Given the description of an element on the screen output the (x, y) to click on. 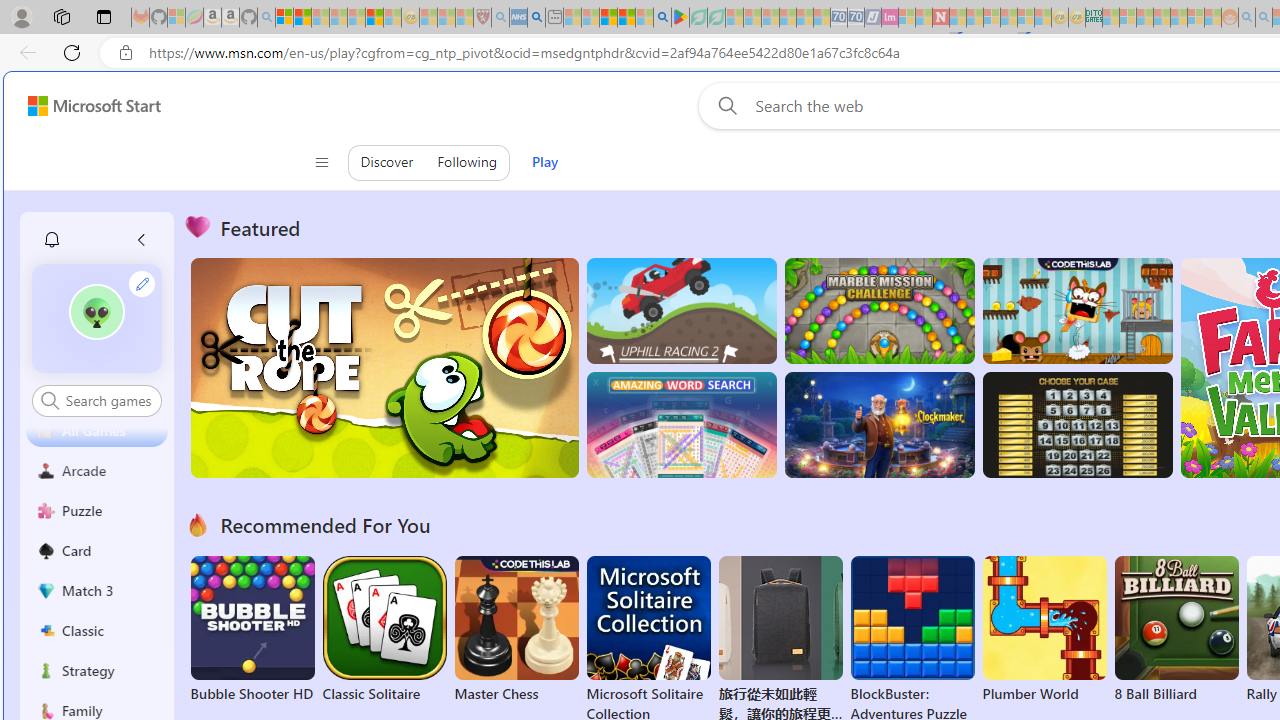
Cut the Rope (383, 367)
Plumber World (1044, 629)
